Given the description of an element on the screen output the (x, y) to click on. 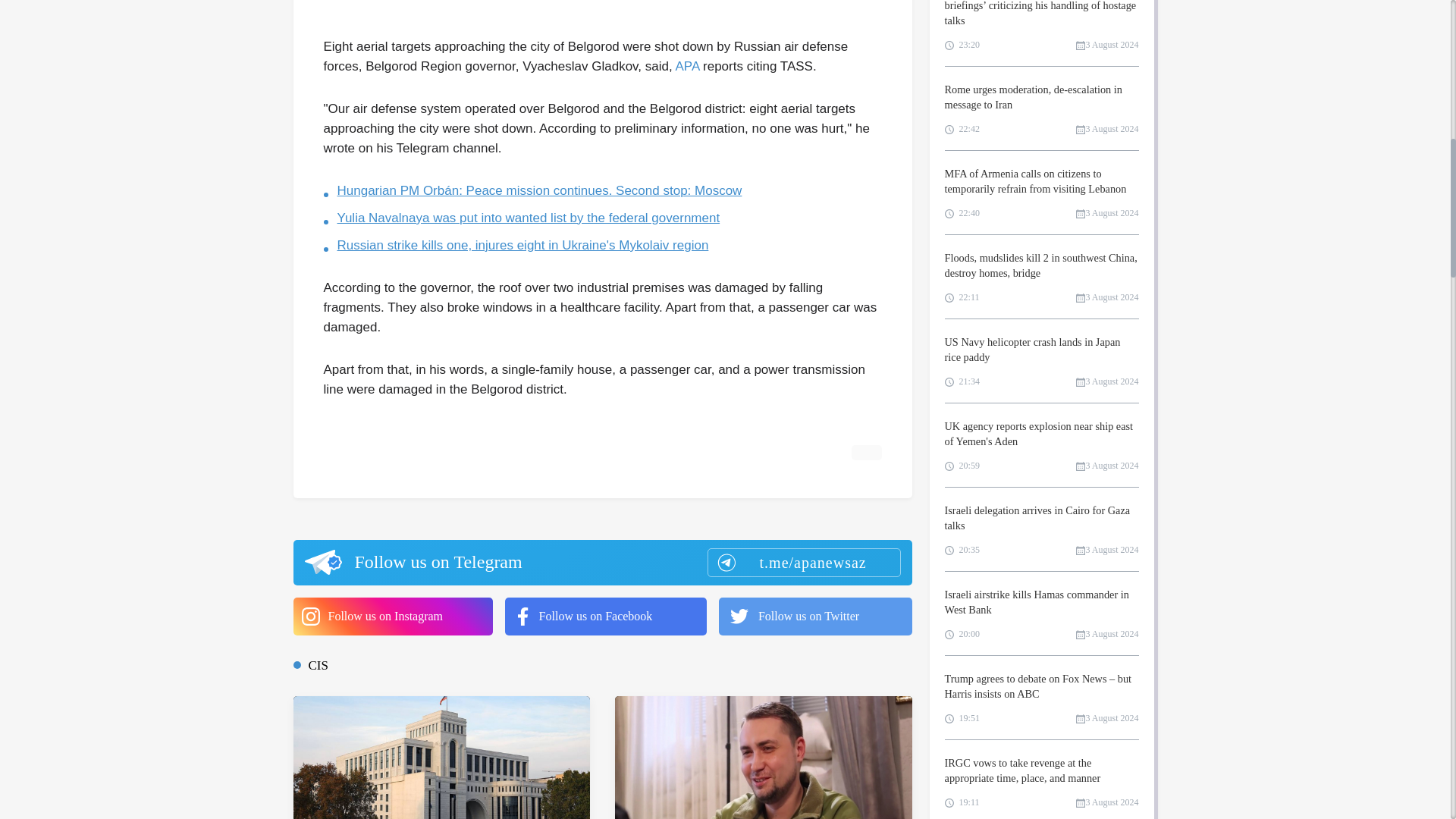
Follow us on Instagram (392, 616)
Follow us on Twitter (815, 616)
Follow us on Telegram (601, 562)
Follow us on Facebook (605, 616)
